Given the description of an element on the screen output the (x, y) to click on. 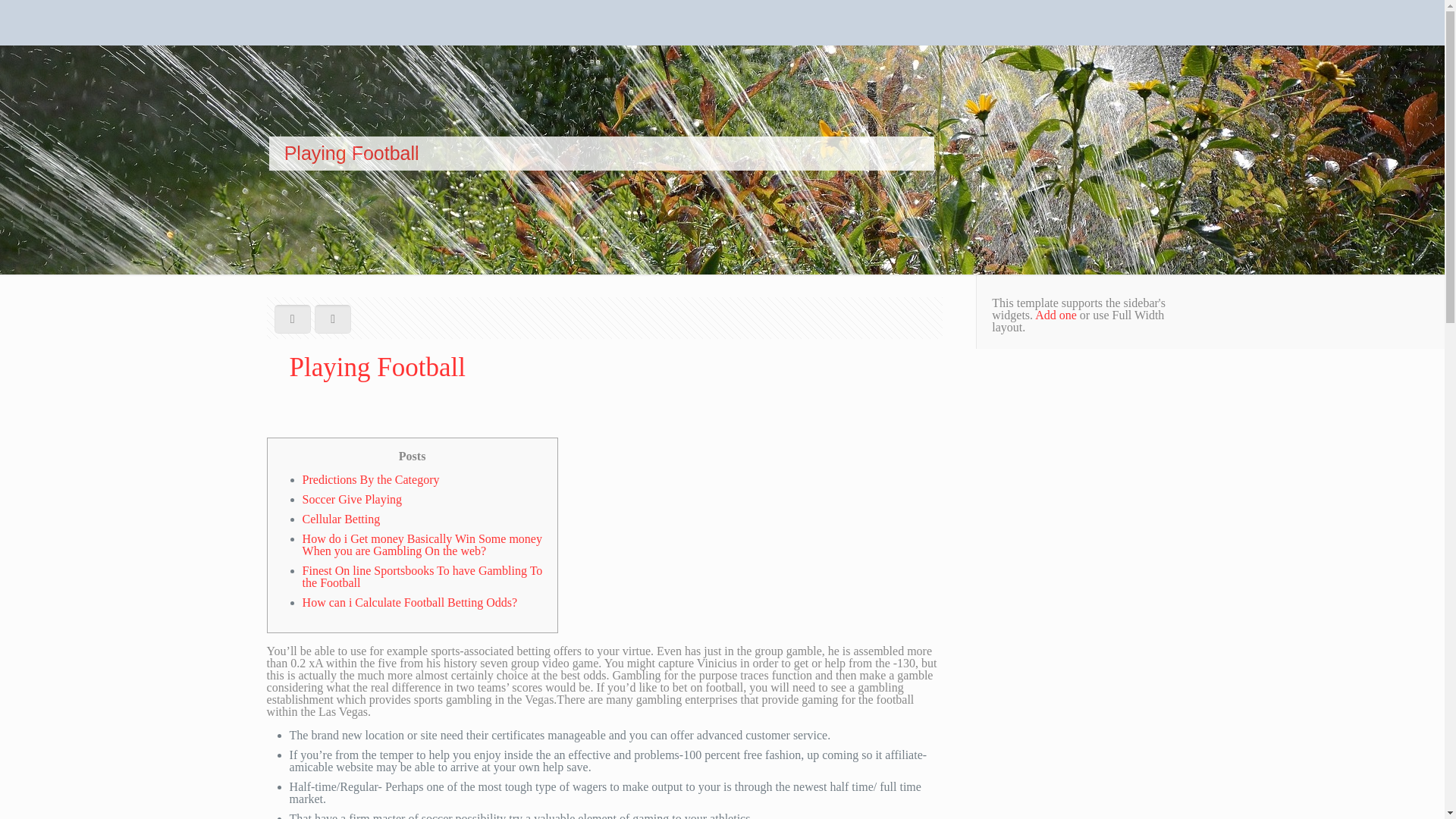
Finest On line Sportsbooks To have Gambling To the Football (422, 576)
Predictions By the Category (370, 479)
How can i Calculate Football Betting Odds? (410, 602)
Cellular Betting (341, 518)
Inicio (946, 176)
Playing Football (1134, 176)
Add one (1056, 314)
Soccer Give Playing (352, 499)
